Given the description of an element on the screen output the (x, y) to click on. 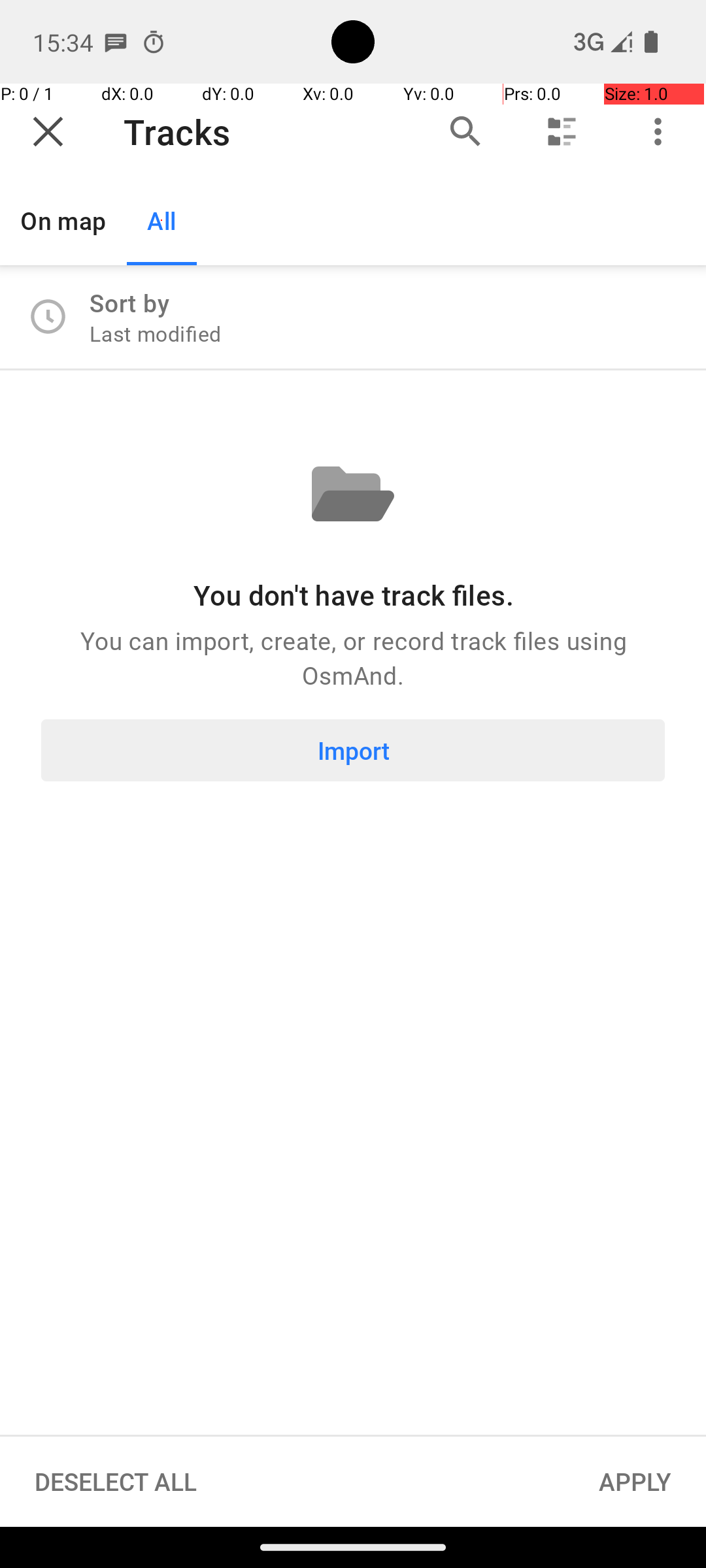
Switch folder Element type: android.widget.ImageButton (561, 131)
More actions Element type: android.widget.ImageButton (657, 131)
DESELECT ALL Element type: android.widget.TextView (115, 1481)
APPLY Element type: android.widget.TextView (634, 1481)
On map Element type: android.widget.TextView (63, 220)
All Element type: android.widget.TextView (161, 220)
Last modified Element type: android.widget.TextView (155, 333)
You don't have track files. Element type: android.widget.TextView (352, 594)
You can import, create, or record track files using OsmAnd. Element type: android.widget.TextView (352, 657)
Import Element type: android.widget.TextView (352, 750)
